Given the description of an element on the screen output the (x, y) to click on. 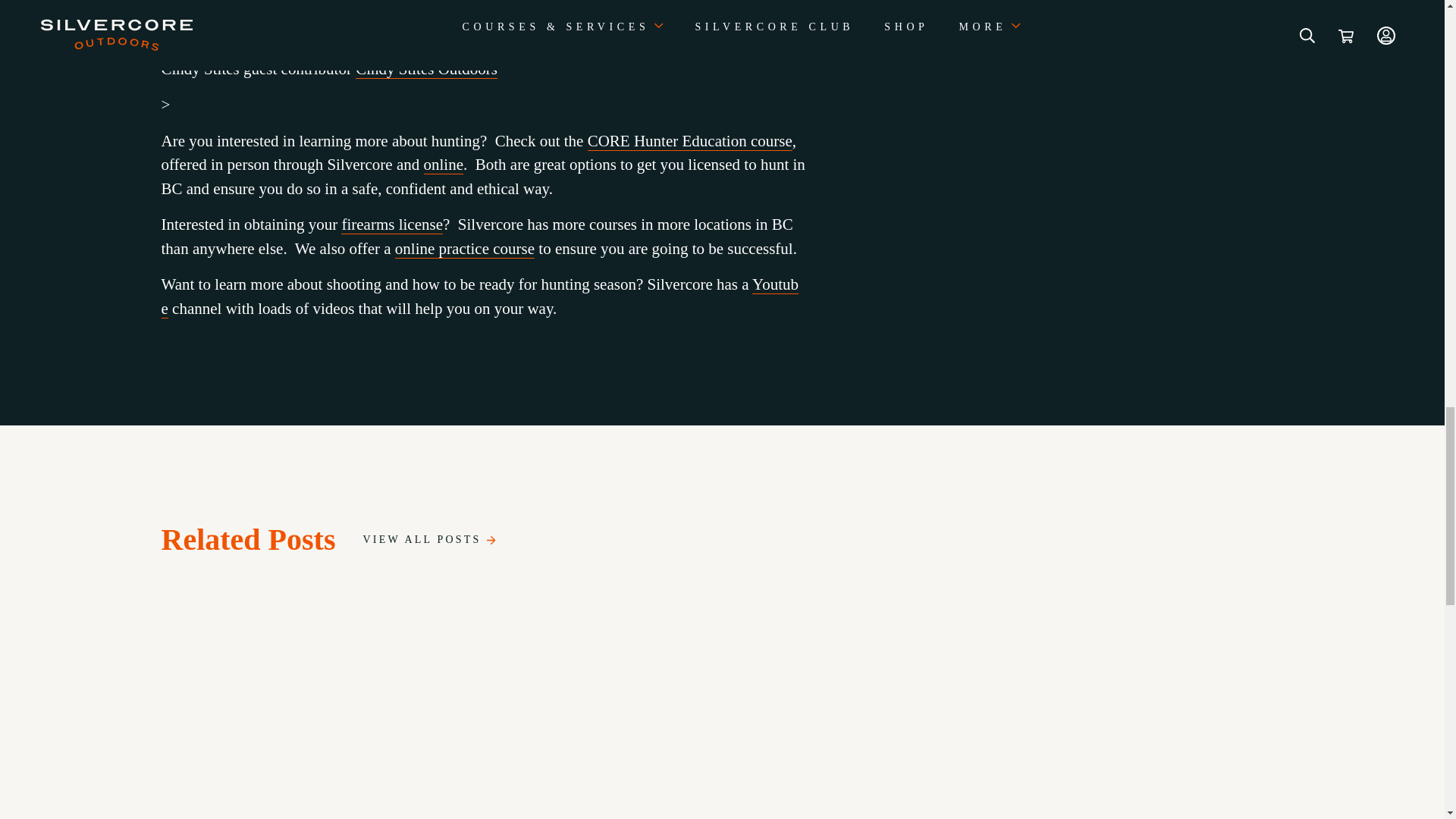
online (443, 164)
Cindy Stites Outdoors (426, 68)
firearms license (391, 224)
online practice course (464, 248)
VIEW ALL POSTS (429, 539)
Youtube (478, 296)
CORE Hunter Education course (690, 140)
